Given the description of an element on the screen output the (x, y) to click on. 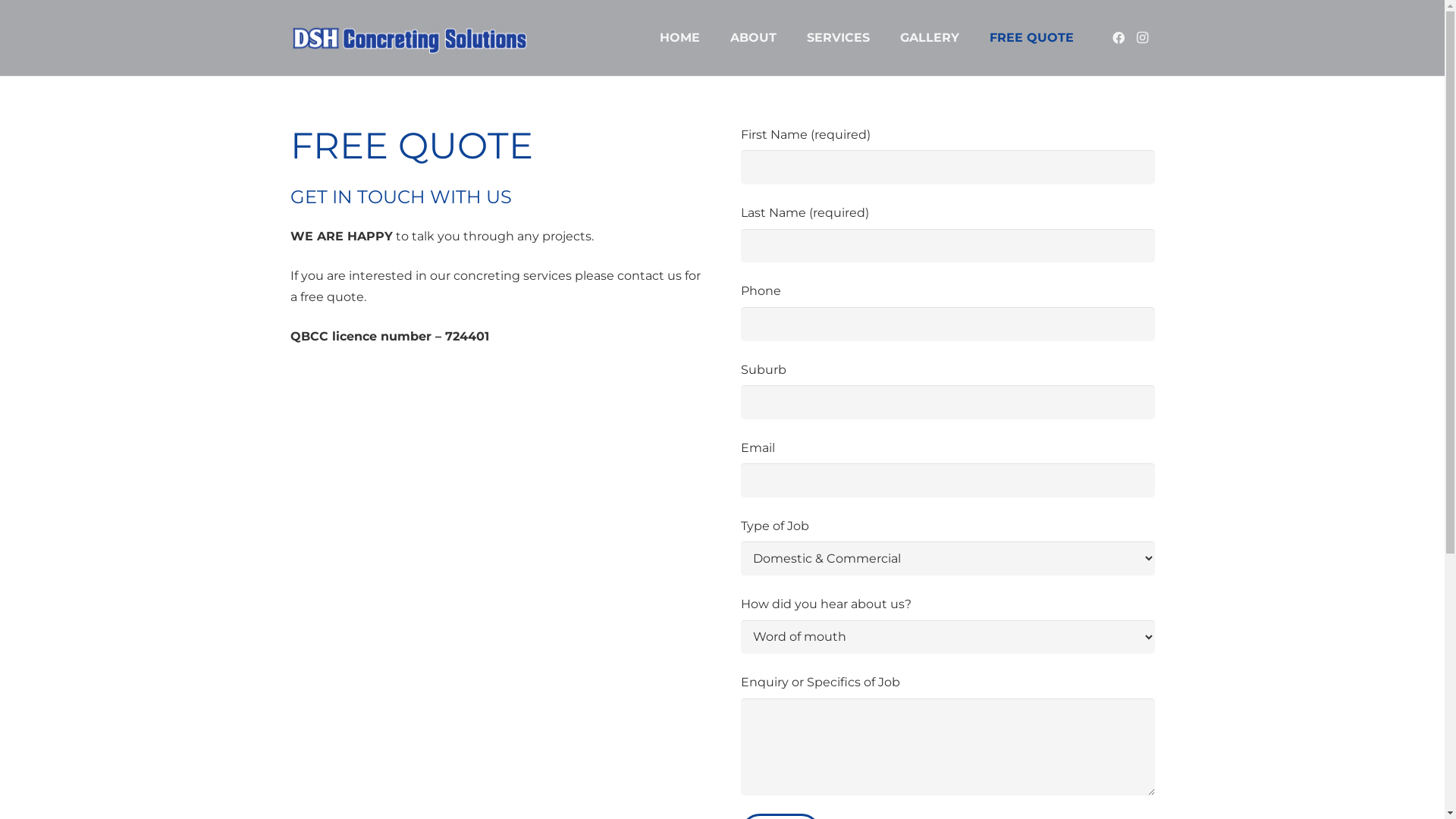
Facebook Element type: hover (1118, 37)
GALLERY Element type: text (929, 37)
Instagram Element type: hover (1142, 37)
ABOUT Element type: text (753, 37)
SERVICES Element type: text (837, 37)
HOME Element type: text (679, 37)
FREE QUOTE Element type: text (1031, 37)
